Given the description of an element on the screen output the (x, y) to click on. 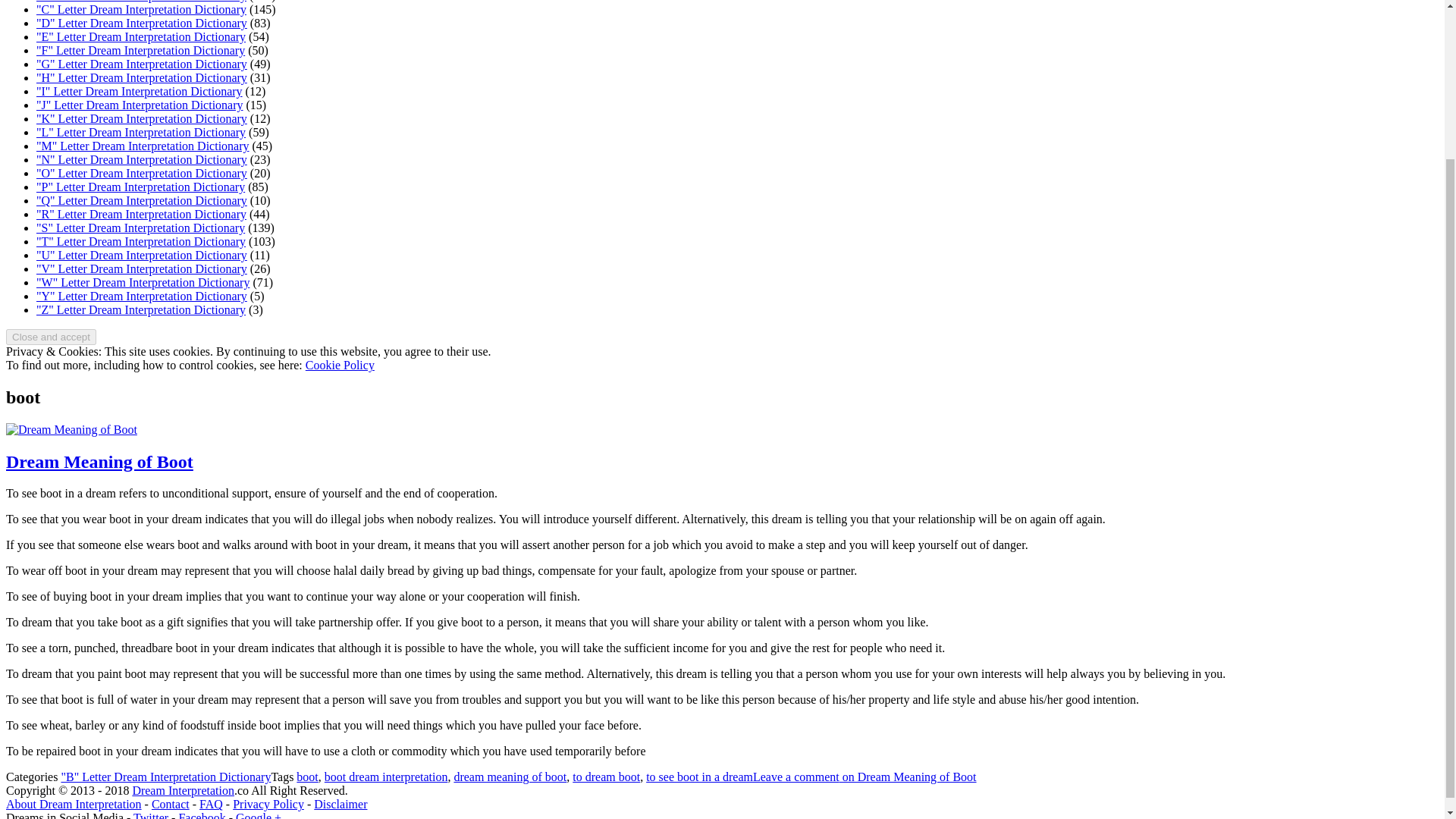
"Y" Letter Dream Interpretation Dictionary (141, 295)
Leave a comment on Dream Meaning of Boot (864, 776)
"H" Letter Dream Interpretation Dictionary (141, 77)
Cookie Policy (339, 364)
"V" Letter Dream Interpretation Dictionary (141, 268)
"T" Letter Dream Interpretation Dictionary (141, 241)
"B" Letter Dream Interpretation Dictionary (165, 776)
"D" Letter Dream Interpretation Dictionary (141, 22)
boot (307, 776)
"R" Letter Dream Interpretation Dictionary (141, 214)
boot dream interpretation (386, 776)
"I" Letter Dream Interpretation Dictionary (139, 91)
Dream Meaning of Boot (99, 461)
"F" Letter Dream Interpretation Dictionary (140, 50)
"G" Letter Dream Interpretation Dictionary (141, 63)
